Given the description of an element on the screen output the (x, y) to click on. 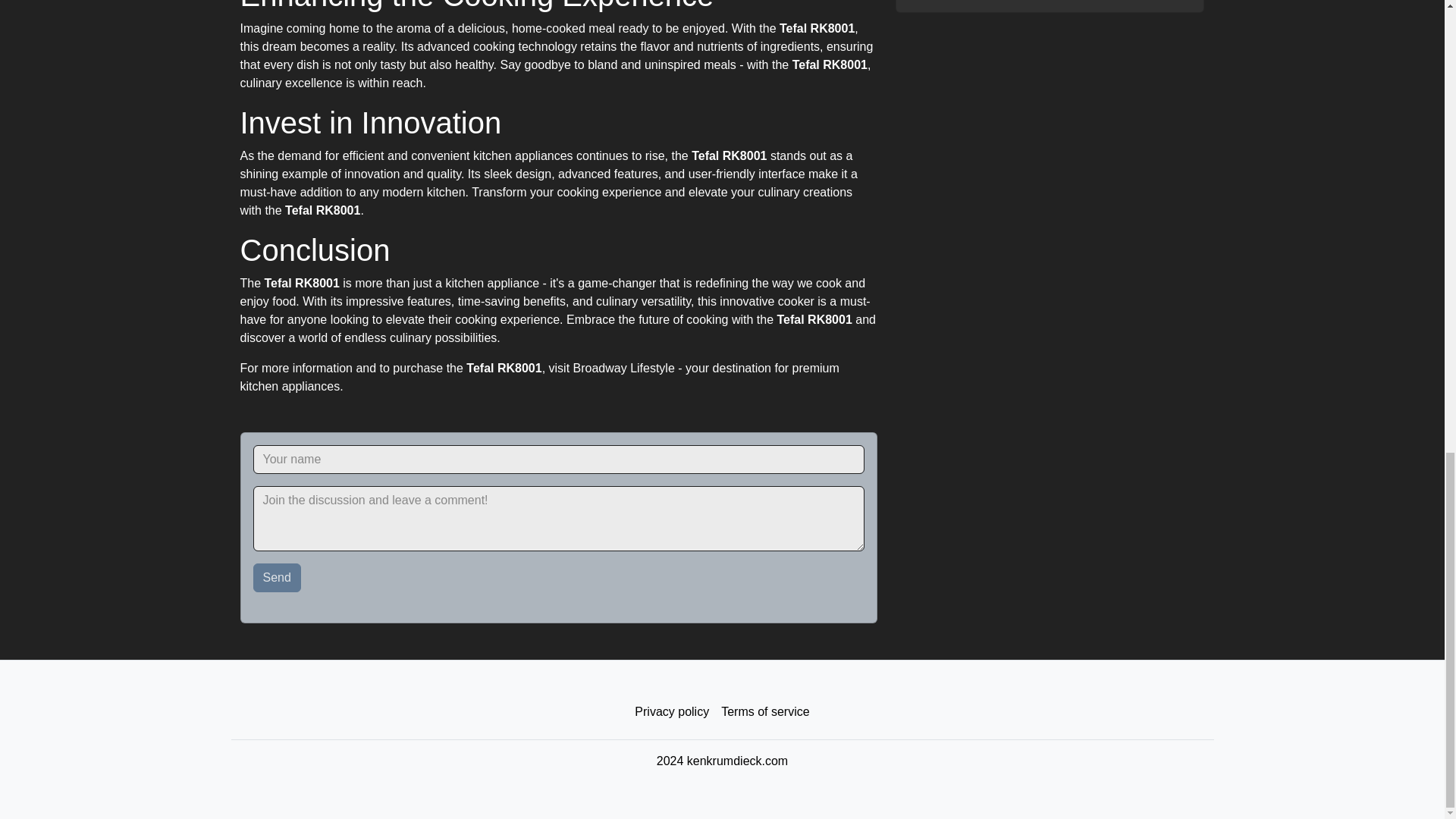
Terms of service (764, 711)
Send (277, 577)
Privacy policy (671, 711)
Send (277, 577)
